Given the description of an element on the screen output the (x, y) to click on. 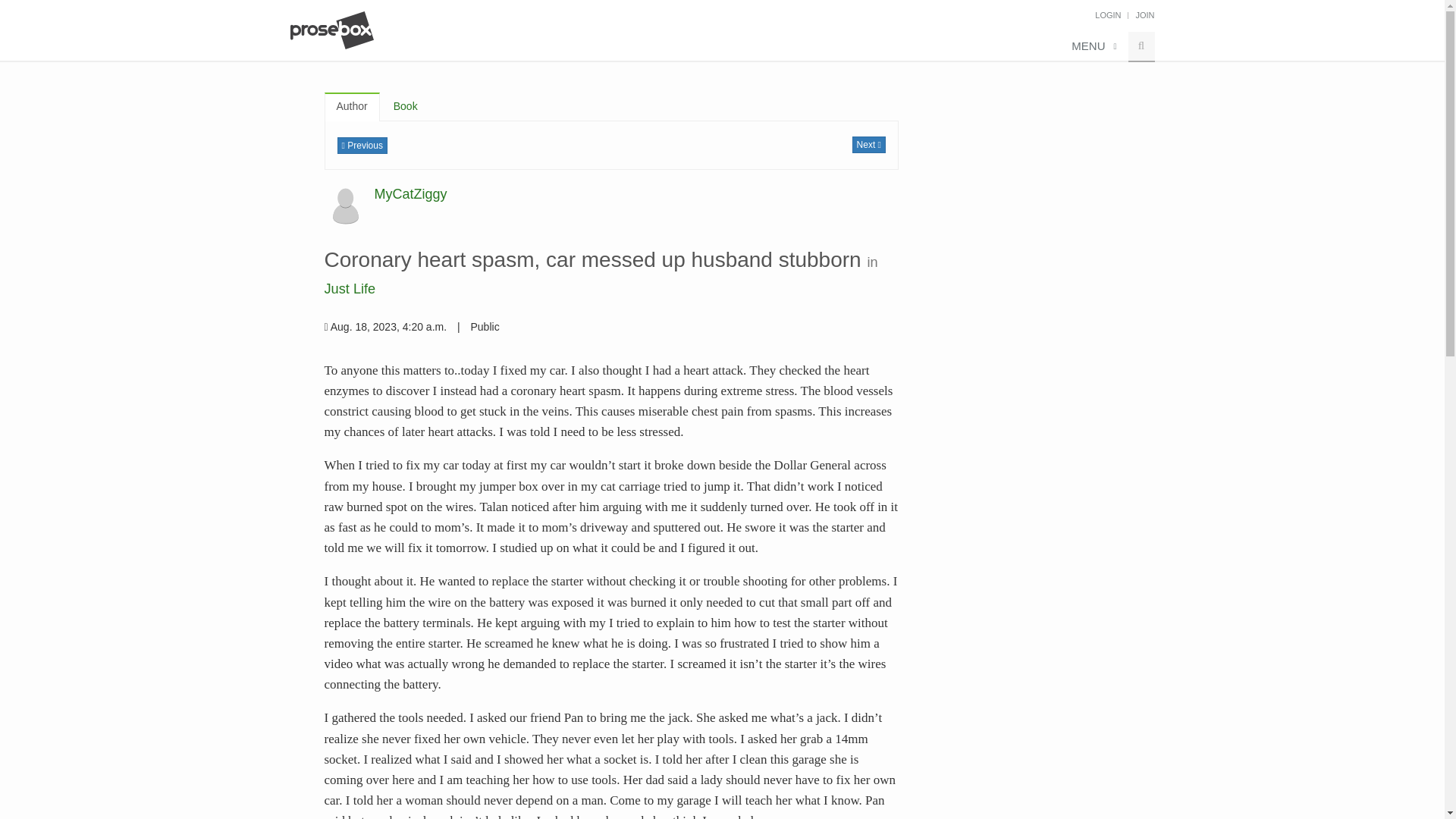
Just Life (349, 288)
JOIN (1144, 14)
MyCatZiggy (410, 193)
Book (405, 106)
Author (352, 106)
MENU (1091, 46)
Next (868, 144)
Previous (361, 145)
LOGIN (1107, 14)
